Given the description of an element on the screen output the (x, y) to click on. 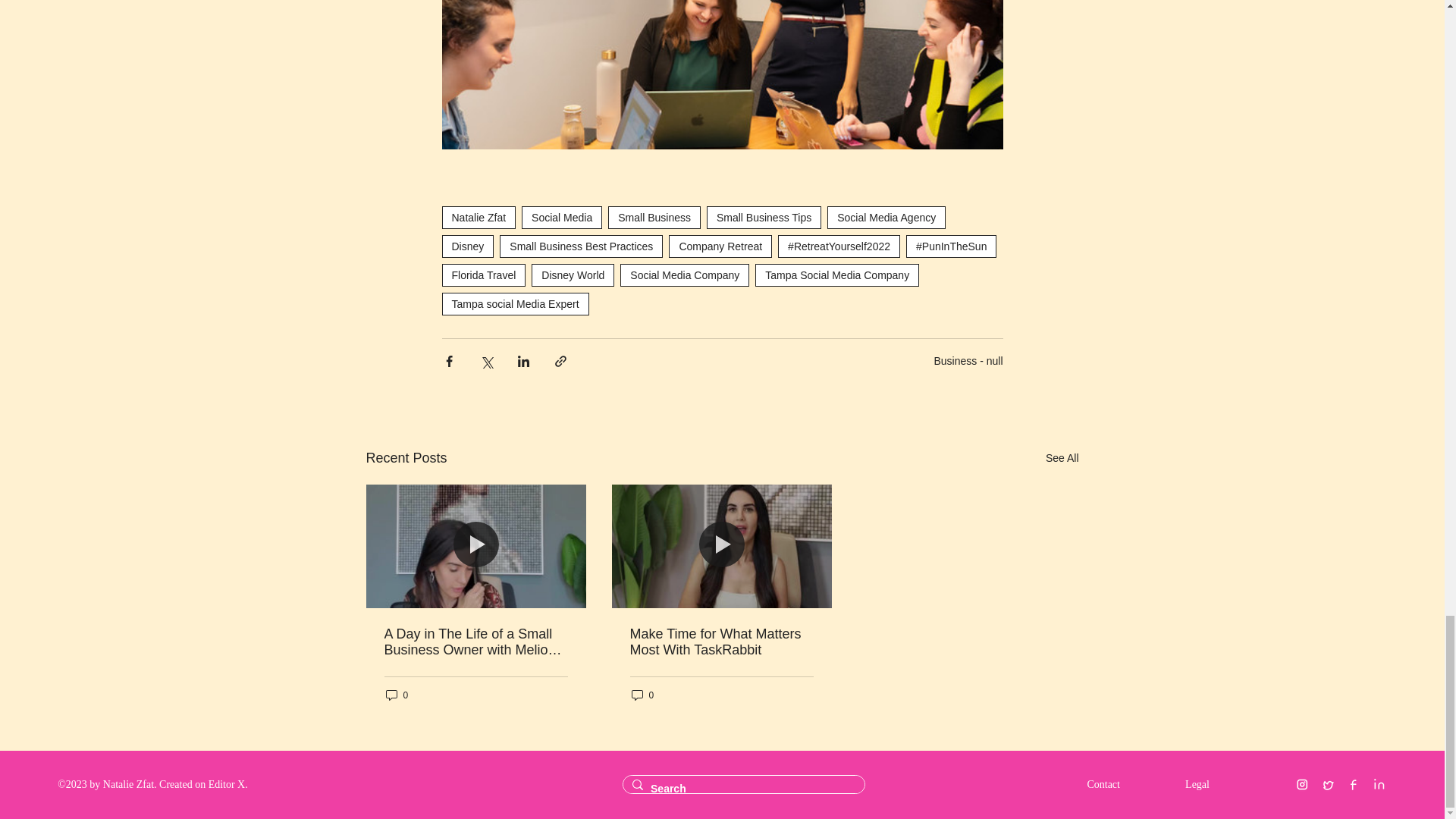
Social Media (561, 217)
Small Business Best Practices (580, 246)
Natalie Zfat (478, 217)
Small Business (654, 217)
Legal (1218, 784)
Disney (467, 246)
Social Media Agency (885, 217)
Small Business Tips (763, 217)
Company Retreat (719, 246)
Editor X. (227, 784)
Contact (1117, 784)
